Given the description of an element on the screen output the (x, y) to click on. 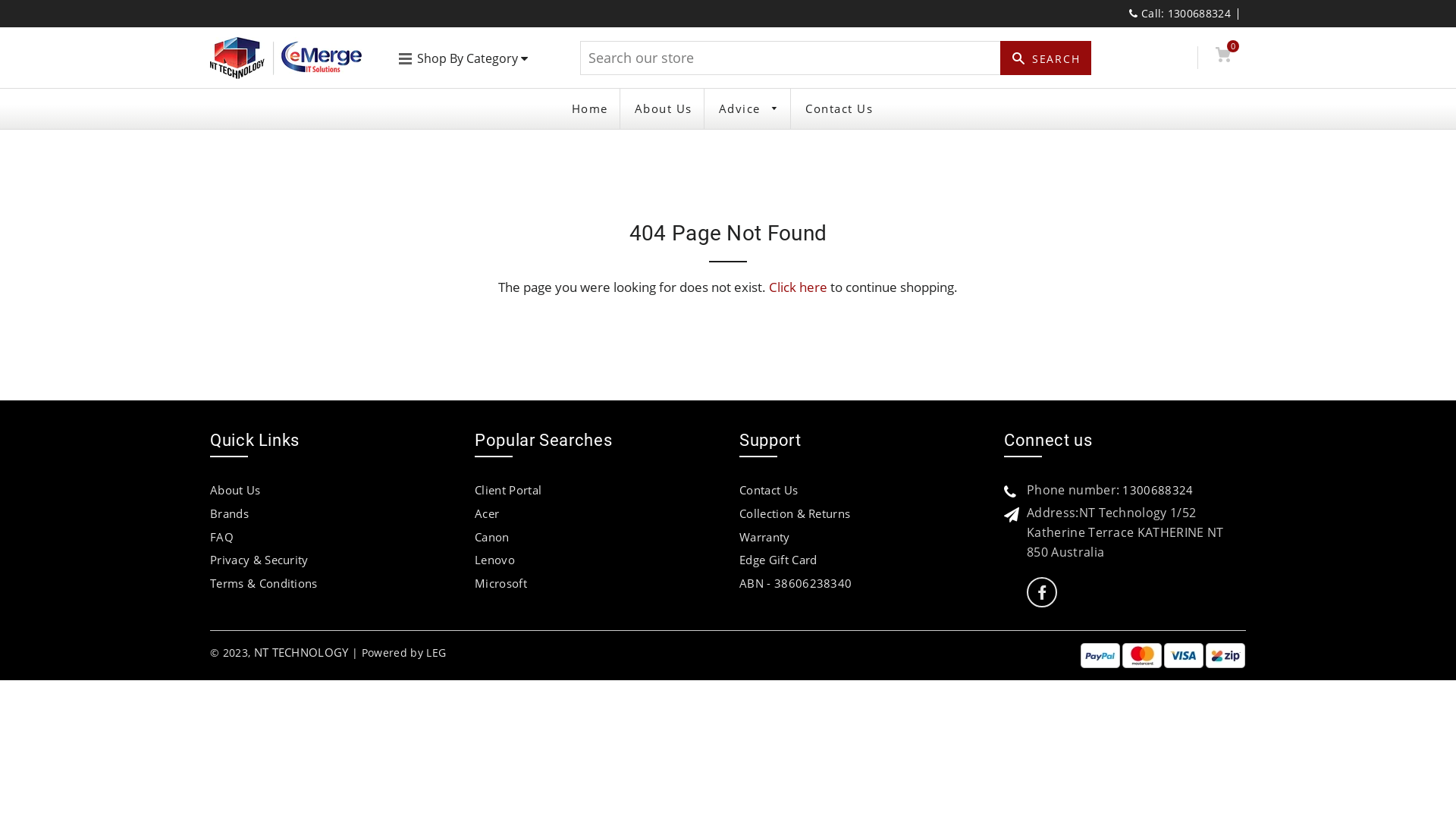
Acer Element type: text (486, 512)
Brands Element type: text (229, 512)
About Us Element type: text (663, 108)
Cart
0 Element type: text (1222, 56)
1300688324 Element type: text (1157, 489)
Call: 1300688324 Element type: text (1179, 13)
Warranty Element type: text (764, 536)
Microsoft Element type: text (500, 582)
Contact Us Element type: text (768, 489)
FAQ Element type: text (221, 536)
Canon Element type: text (491, 536)
Advice Element type: text (748, 108)
Terms & Conditions Element type: text (263, 582)
Log In Element type: text (1175, 56)
Lenovo Element type: text (494, 559)
Home Element type: text (589, 108)
Collection & Returns Element type: text (794, 512)
Contact Us Element type: text (838, 108)
Client Portal Element type: text (507, 489)
Edge Gift Card Element type: text (777, 559)
Click here Element type: text (797, 286)
SEARCH Element type: text (1045, 57)
ABN - 38606238340 Element type: text (795, 582)
NT TECHNOLOGY Element type: text (301, 651)
Privacy & Security Element type: text (259, 559)
About Us Element type: text (235, 489)
NT TECHNOLOGY on Facebook Element type: hover (1041, 592)
